Given the description of an element on the screen output the (x, y) to click on. 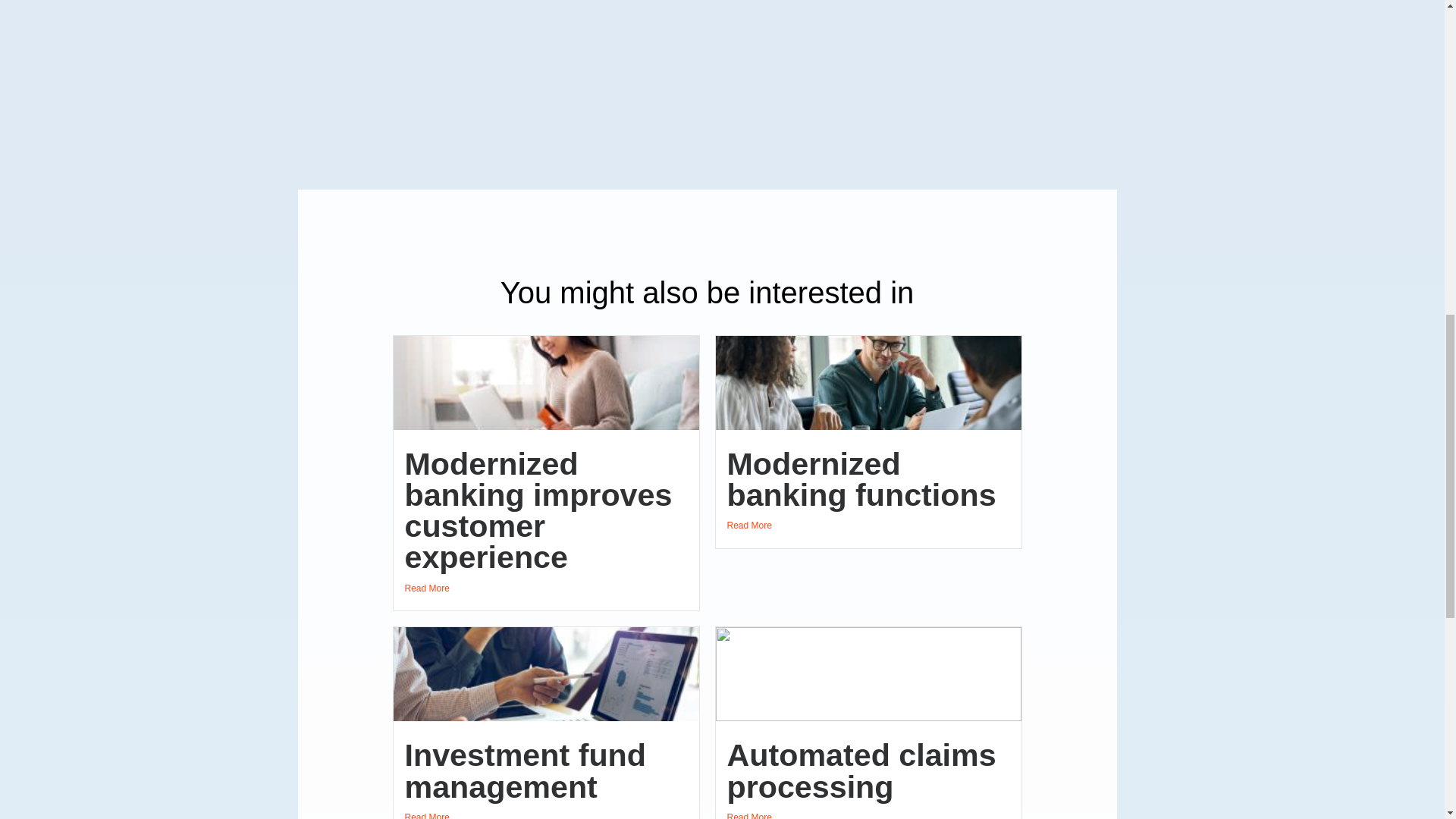
Investment fund management (525, 770)
Modernized banking functions (860, 479)
Automated claims processing (860, 770)
Modernized banking improves customer experience (538, 510)
